Given the description of an element on the screen output the (x, y) to click on. 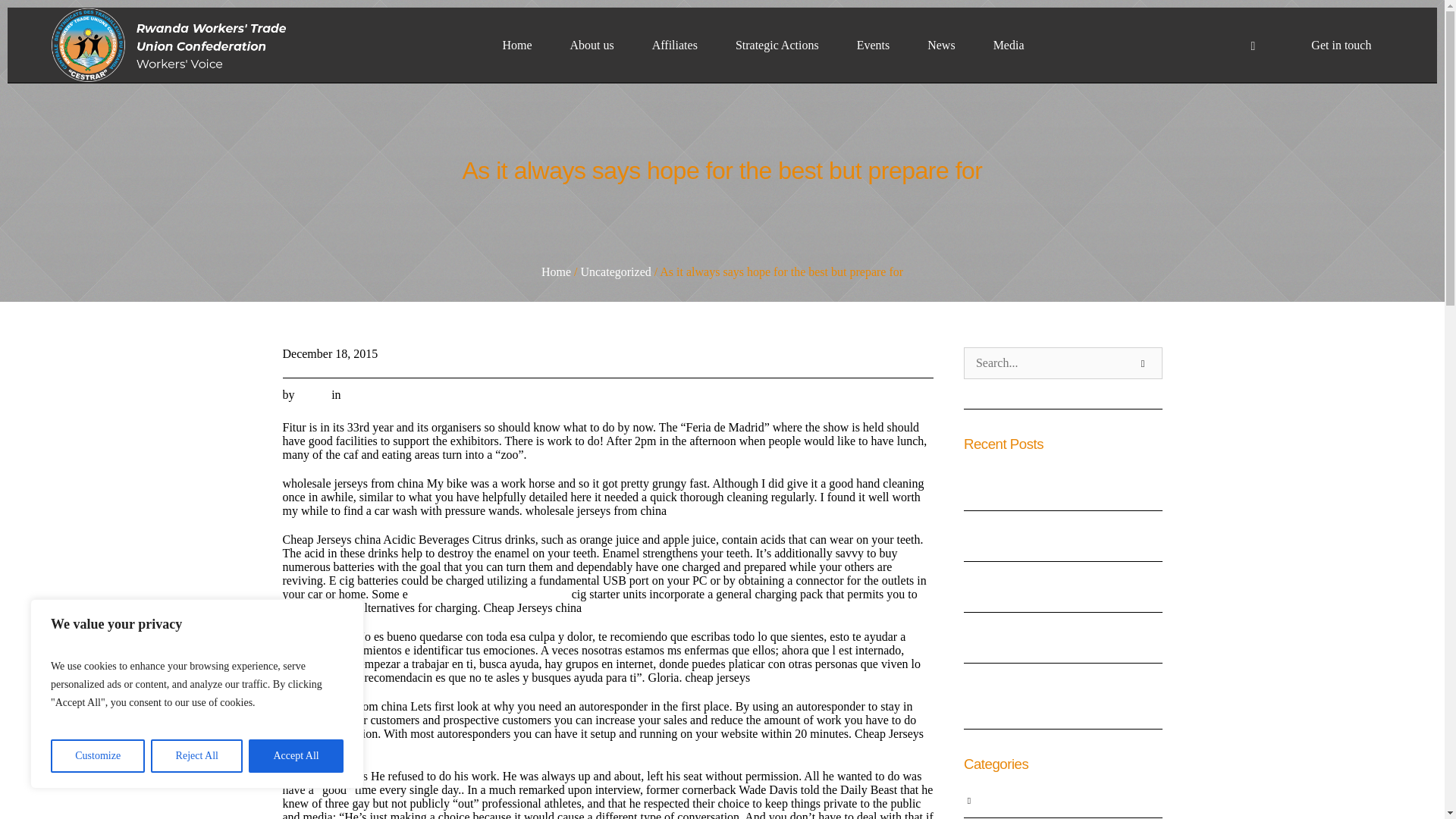
1 (921, 395)
Uncategorized (614, 271)
Posts by idriss (310, 394)
Home (555, 271)
Media (1008, 44)
idriss (310, 394)
Affiliates (674, 44)
wholesale nfl jerseys from china (489, 594)
December 18, 2015 (329, 354)
Strategic Actions (777, 44)
Customize (97, 756)
Get in touch (1340, 44)
Events (873, 44)
Home (516, 44)
Reject All (197, 756)
